Given the description of an element on the screen output the (x, y) to click on. 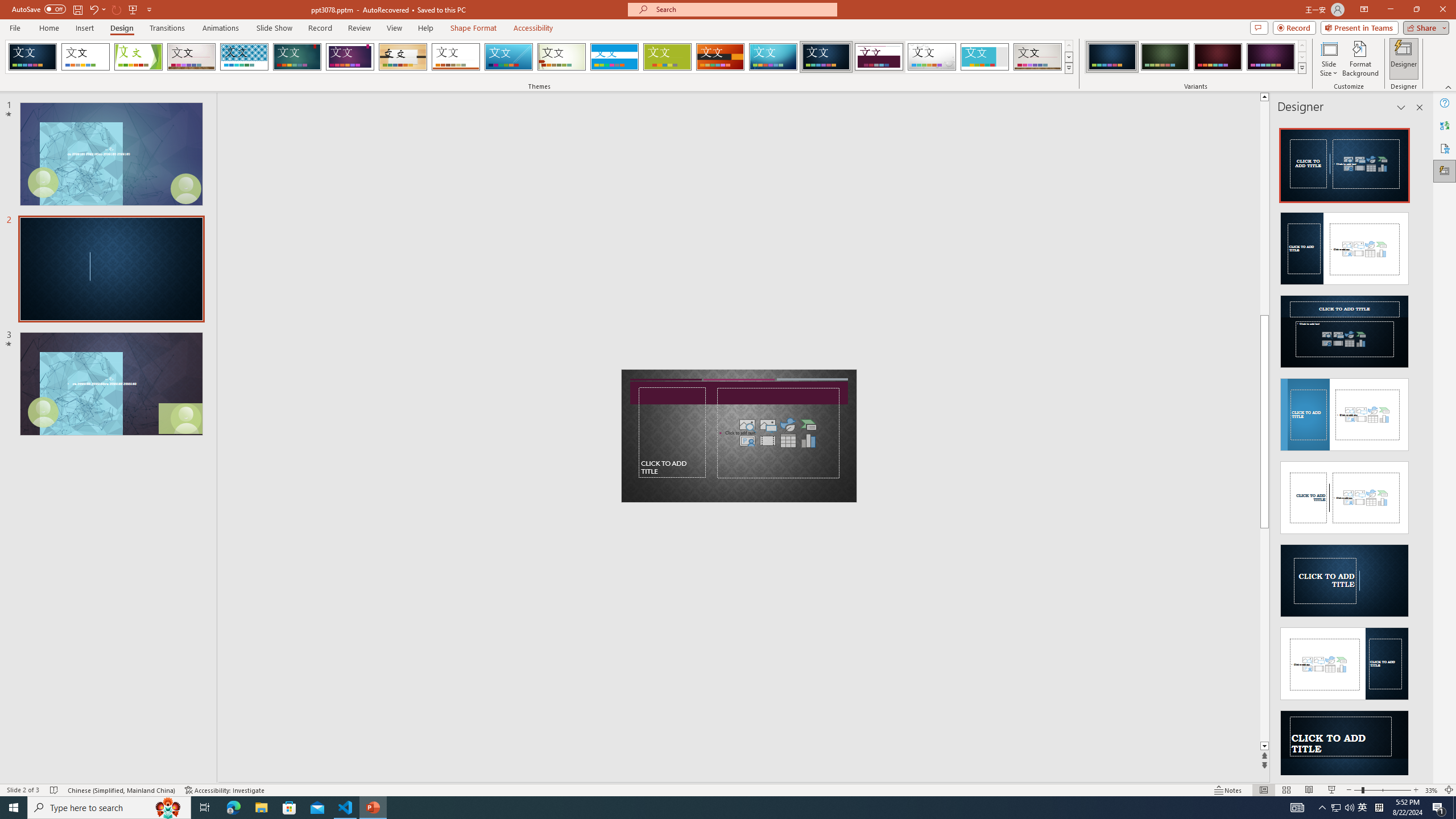
AutomationID: ThemeVariantsGallery (1195, 56)
Notes  (1227, 790)
